Given the description of an element on the screen output the (x, y) to click on. 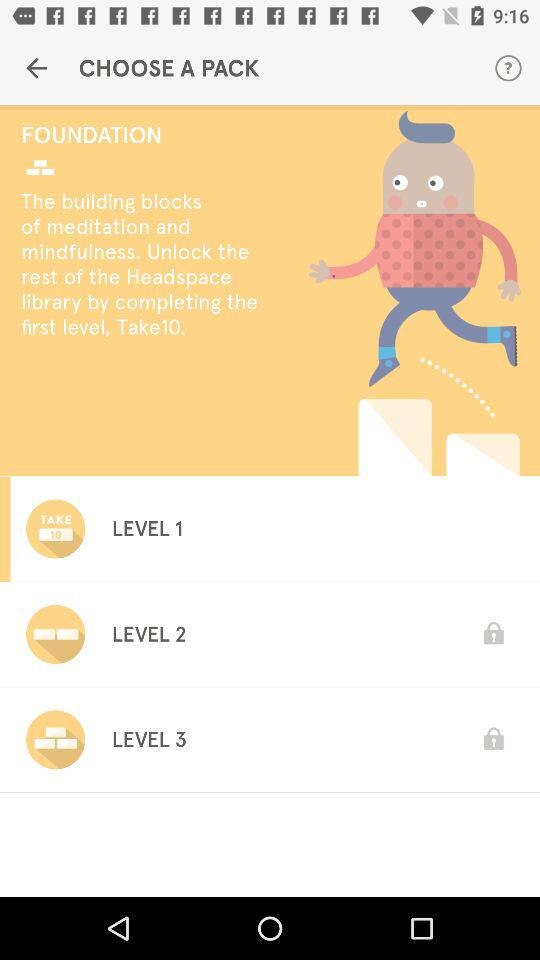
flip to foundation (145, 134)
